Given the description of an element on the screen output the (x, y) to click on. 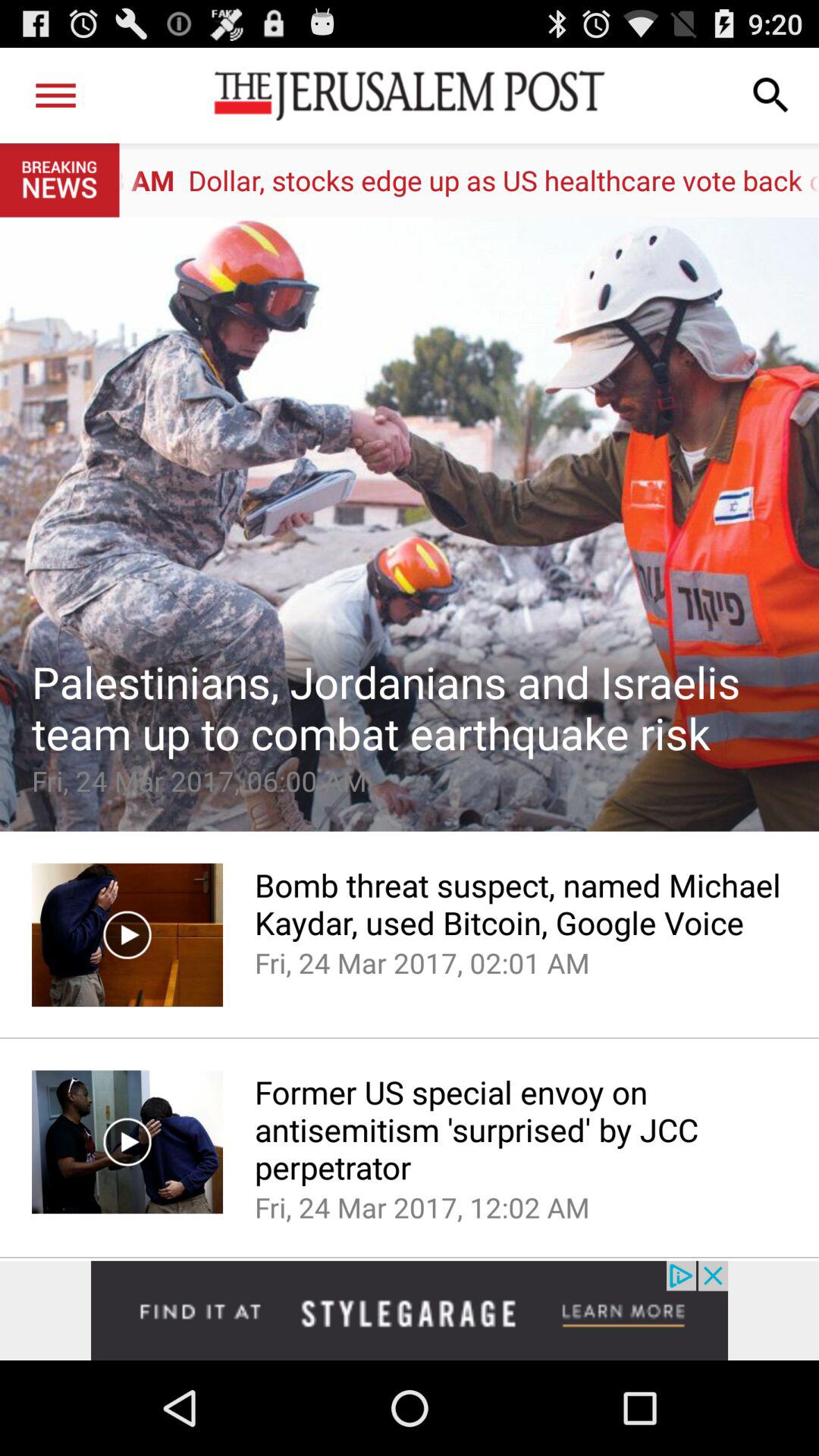
go to article (409, 524)
